Given the description of an element on the screen output the (x, y) to click on. 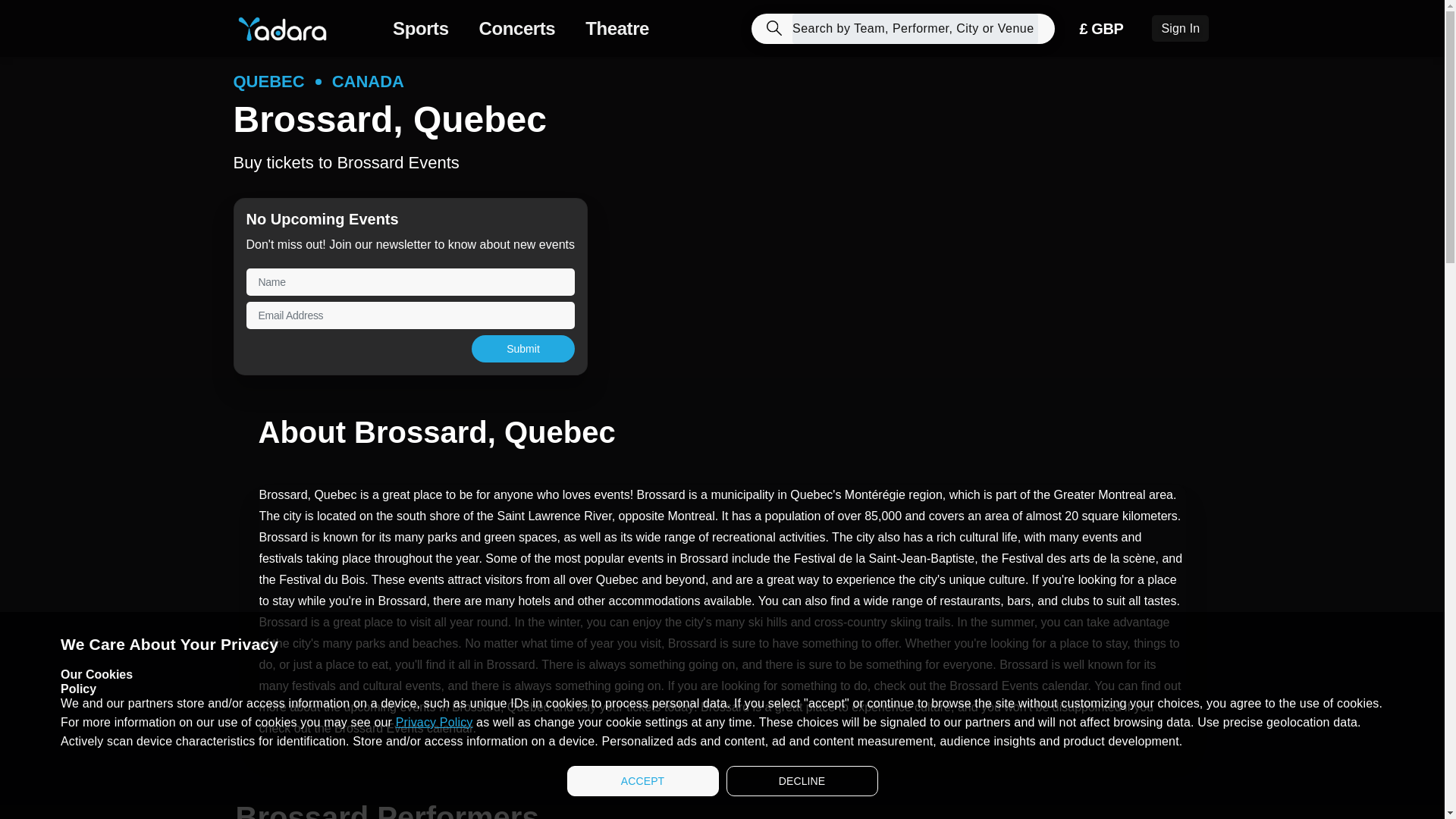
Sports (424, 28)
DECLINE (801, 780)
ACCEPT (643, 780)
Privacy Policy (434, 721)
